Given the description of an element on the screen output the (x, y) to click on. 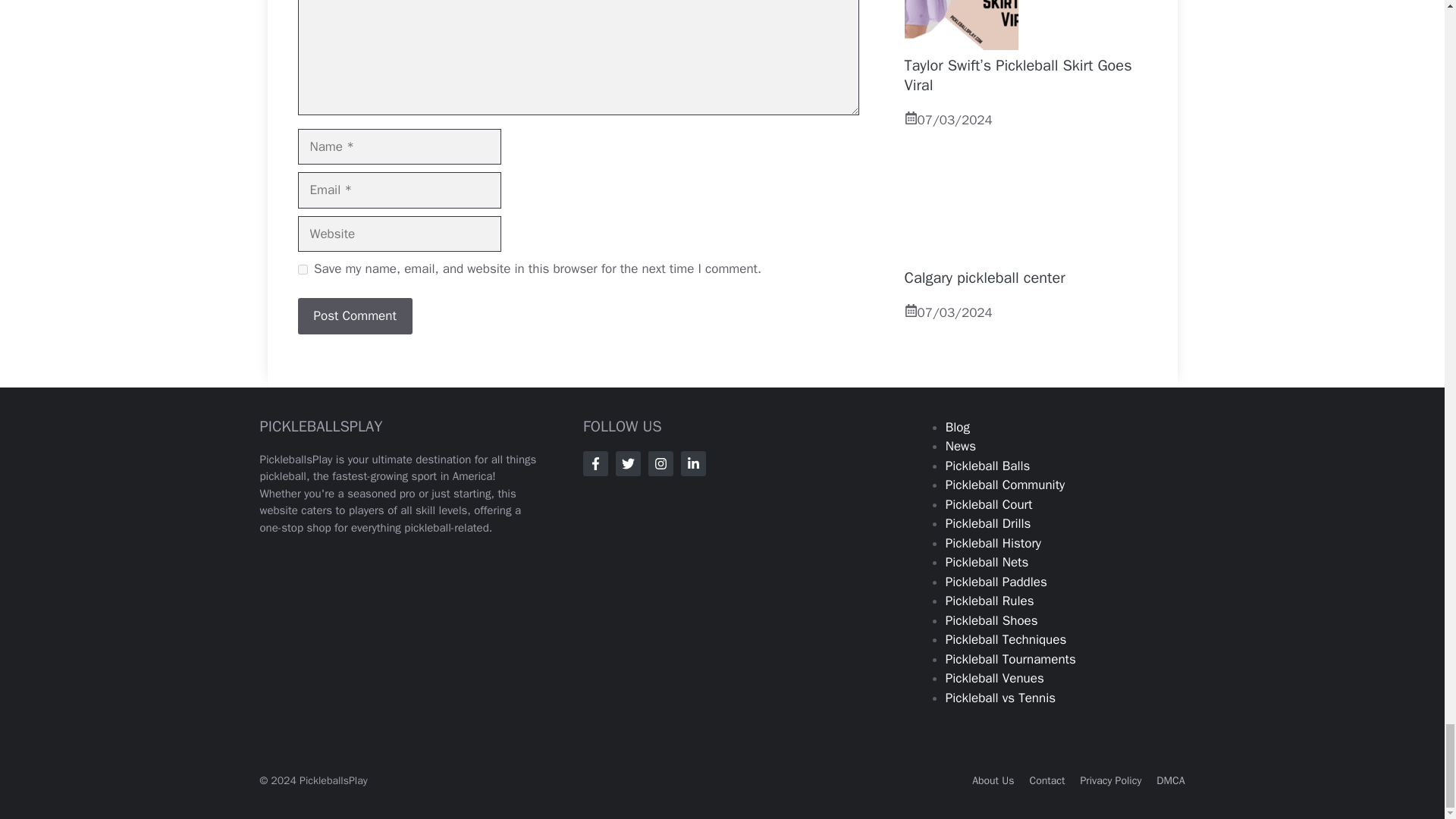
yes (302, 269)
Post Comment (354, 316)
Post Comment (354, 316)
